Given the description of an element on the screen output the (x, y) to click on. 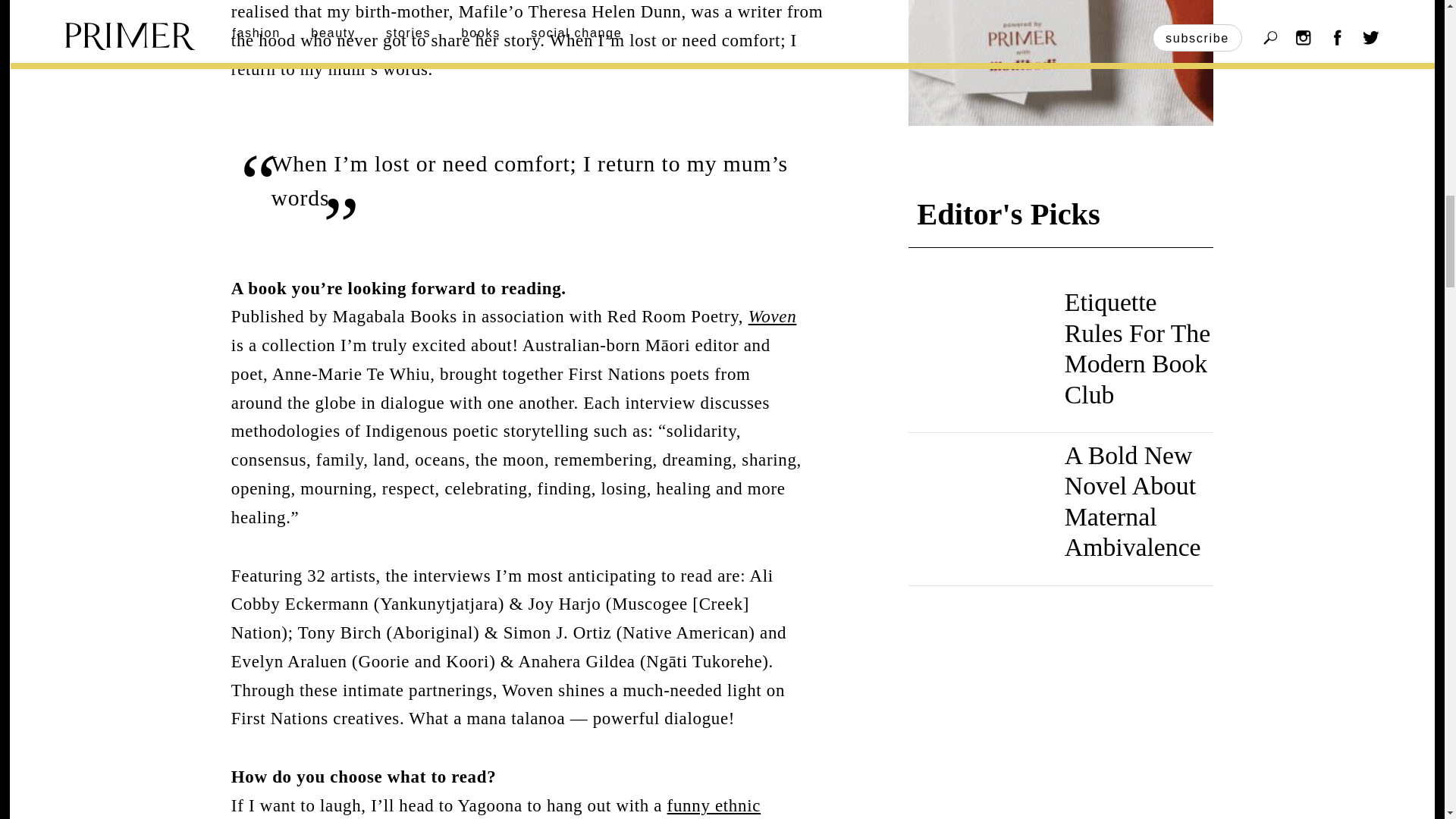
funny ethnic (713, 805)
Woven (772, 316)
